Given the description of an element on the screen output the (x, y) to click on. 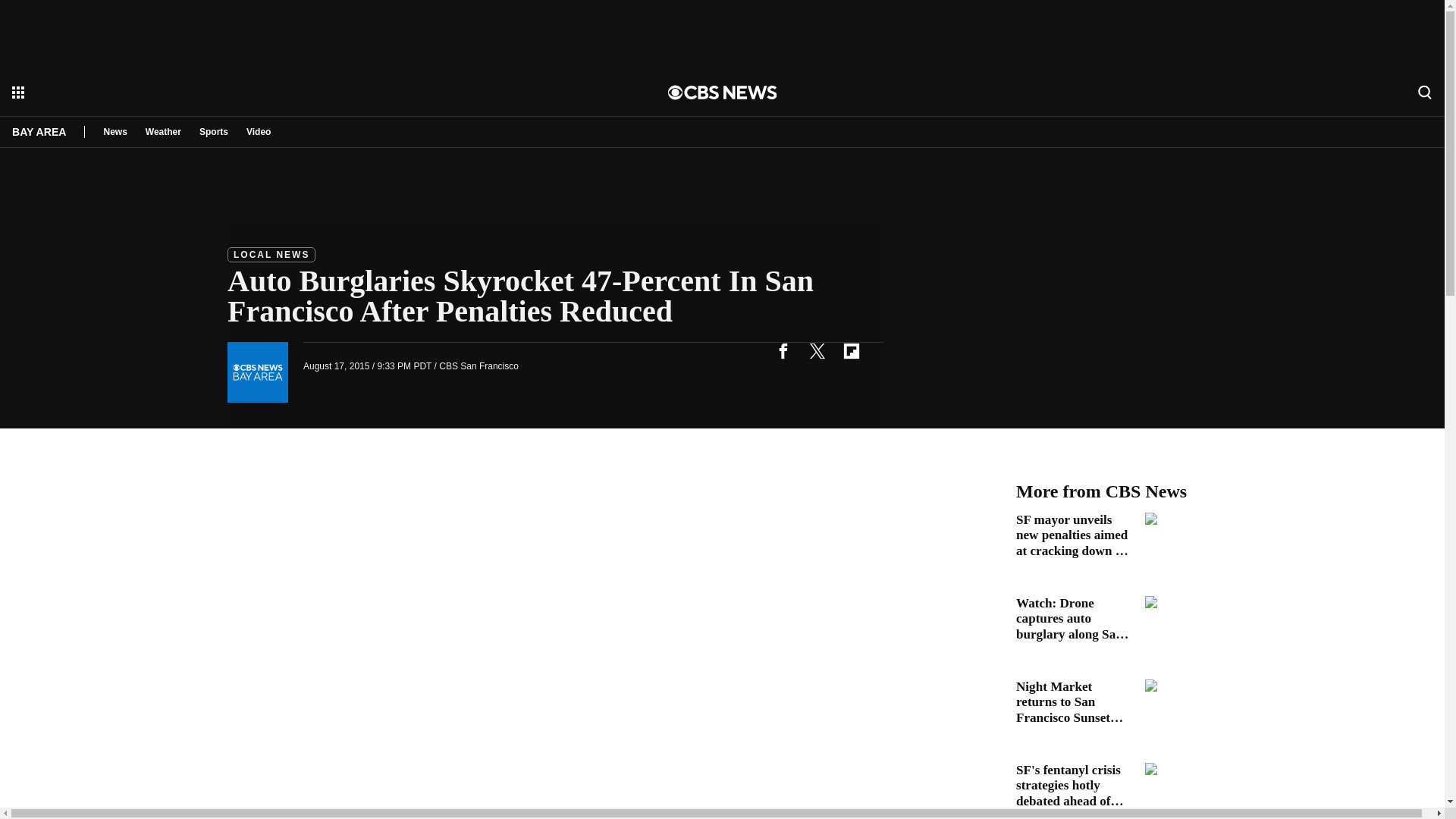
twitter (816, 350)
flipboard (850, 350)
facebook (782, 350)
